Given the description of an element on the screen output the (x, y) to click on. 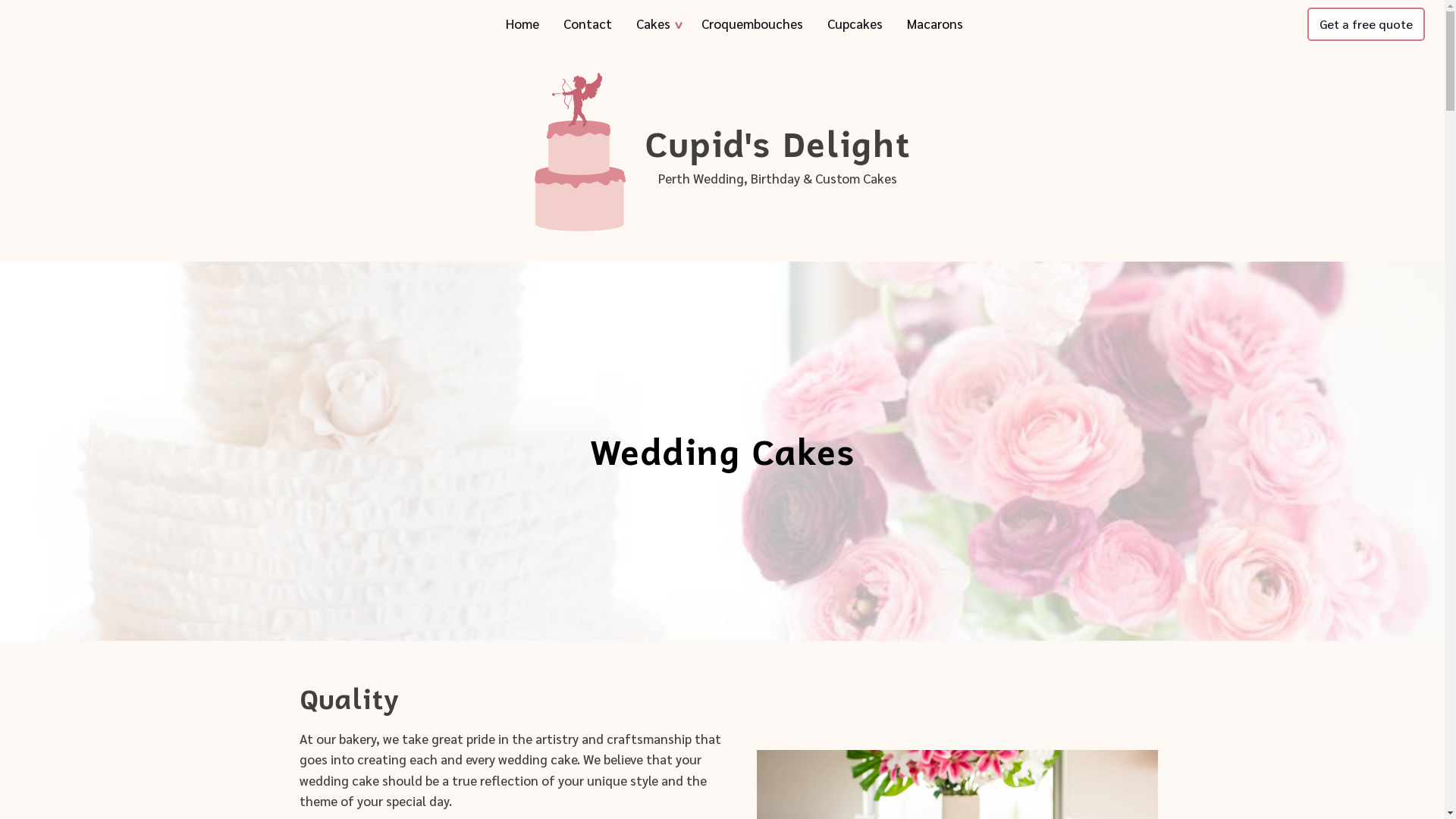
Get a free quote Element type: text (1365, 23)
Home Element type: text (522, 24)
Cupid's Delight
Perth Wedding, Birthday & Custom Cakes Element type: text (777, 154)
Cupcakes Element type: text (854, 24)
Contact Element type: text (587, 24)
Macarons Element type: text (934, 24)
Croquembouches Element type: text (752, 24)
